Given the description of an element on the screen output the (x, y) to click on. 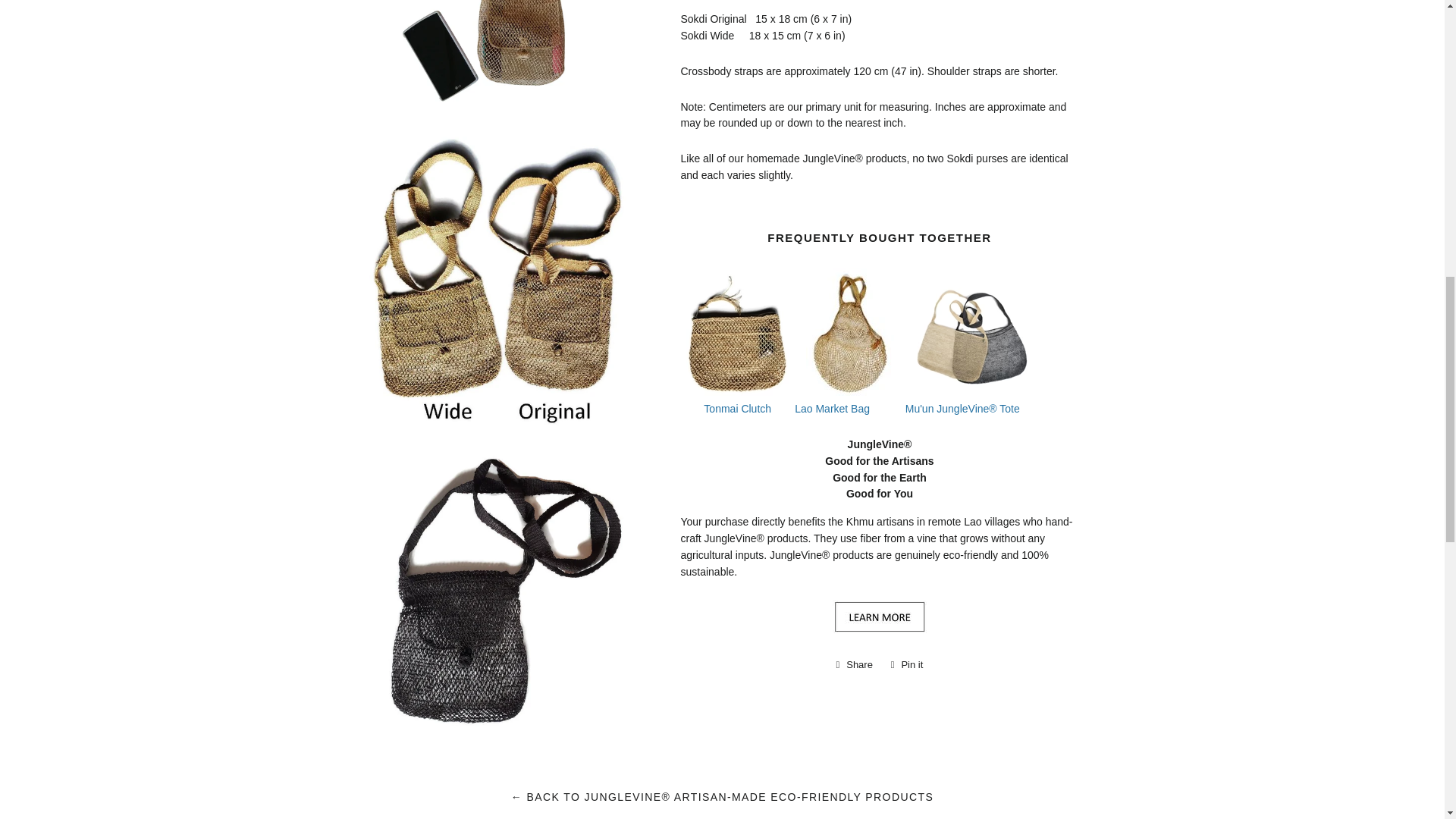
Mu'un JungleVine Tote Bag (971, 391)
Learn More (879, 629)
Tonmai Zipper Clutch Purse (737, 408)
Lao Market Bag (849, 391)
Pin on Pinterest (907, 664)
Share on Facebook (854, 664)
Mu'un JungleVine Tote Bag (962, 408)
Tonmai Zipper Clutch Purse (736, 391)
